Given the description of an element on the screen output the (x, y) to click on. 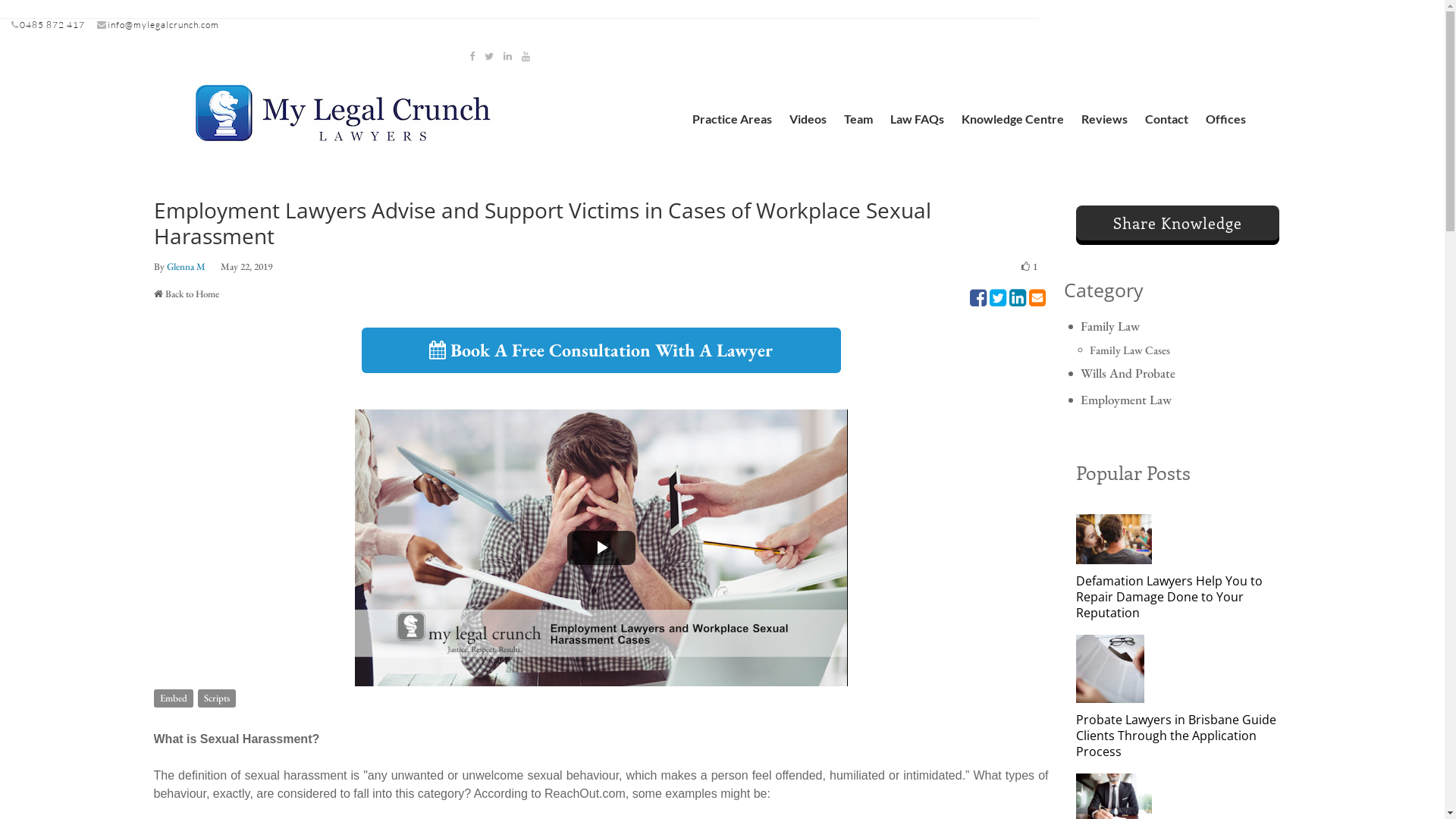
Share on LinkedIn Element type: hover (1016, 297)
Team Element type: text (857, 118)
info@mylegalcrunch.com Element type: text (163, 24)
Contact Element type: text (1166, 118)
Family Law Cases Element type: text (1182, 349)
Play Video Element type: text (601, 547)
Glenna M Element type: text (185, 266)
Tell a Friend Element type: hover (1036, 297)
Offices Element type: text (1225, 118)
Knowledge Centre Element type: text (1012, 118)
Share on Twitter Element type: hover (996, 297)
Back to Home Element type: text (192, 293)
Wills And Probate Element type: text (1178, 372)
0485 872 417 Element type: text (51, 24)
Law FAQs Element type: text (917, 118)
Practice Areas Element type: text (731, 118)
Family Law Element type: text (1178, 326)
1 Element type: text (1029, 266)
Share on Facebook Element type: hover (977, 297)
Videos Element type: text (806, 118)
Book A Free Consultation With A Lawyer Element type: text (600, 350)
Share Knowledge Element type: text (1176, 222)
Reviews Element type: text (1104, 118)
Employment Law Element type: text (1178, 400)
